Given the description of an element on the screen output the (x, y) to click on. 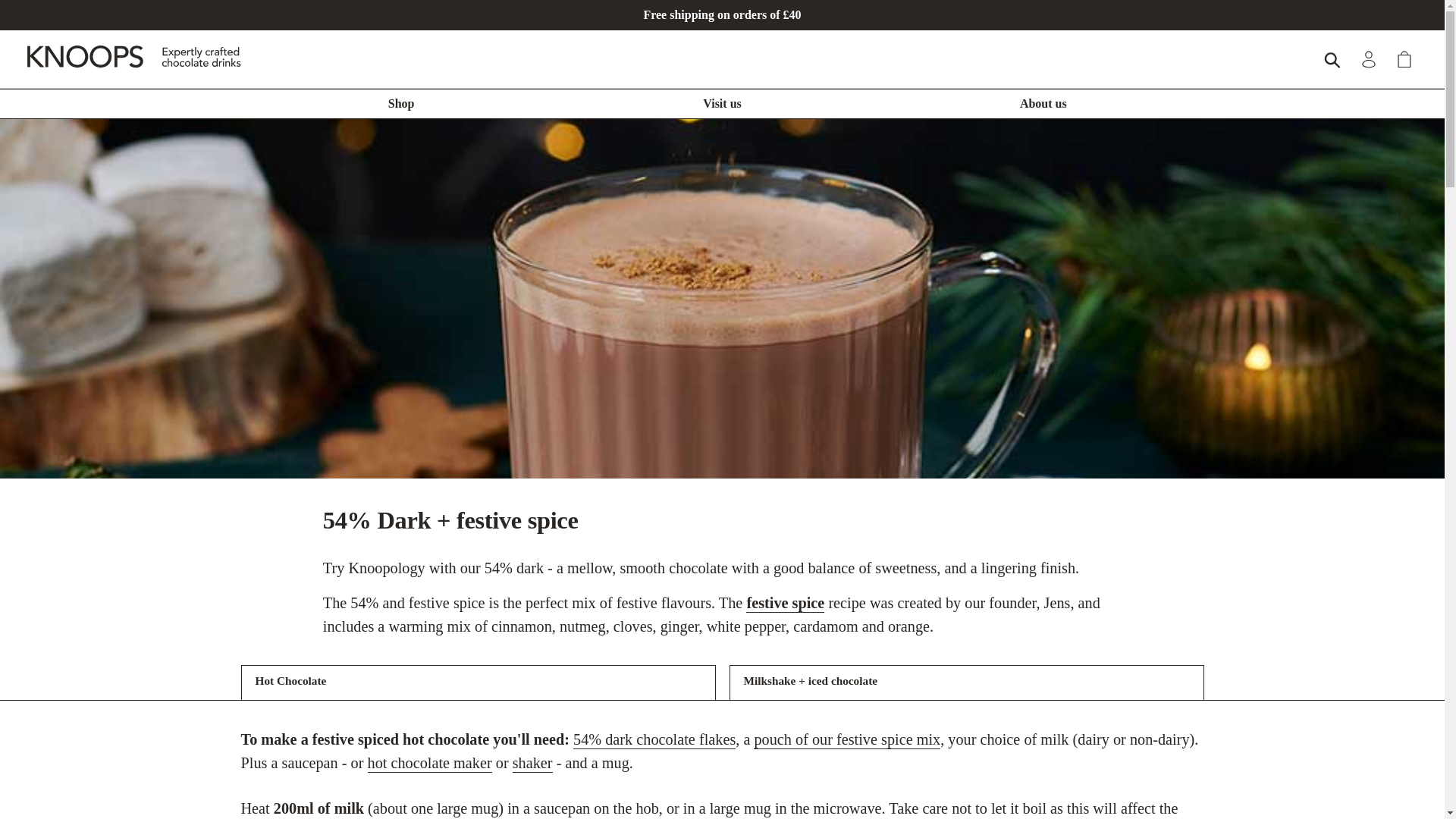
Hot Chocolate Shaker (532, 763)
Log in (1369, 58)
hot chocolate maker (430, 763)
pouch of our festive spice mix (847, 740)
Hot Chocolate Makers (430, 763)
festive spice (784, 603)
Submit (1333, 59)
Cart (1405, 58)
shaker (532, 763)
